Given the description of an element on the screen output the (x, y) to click on. 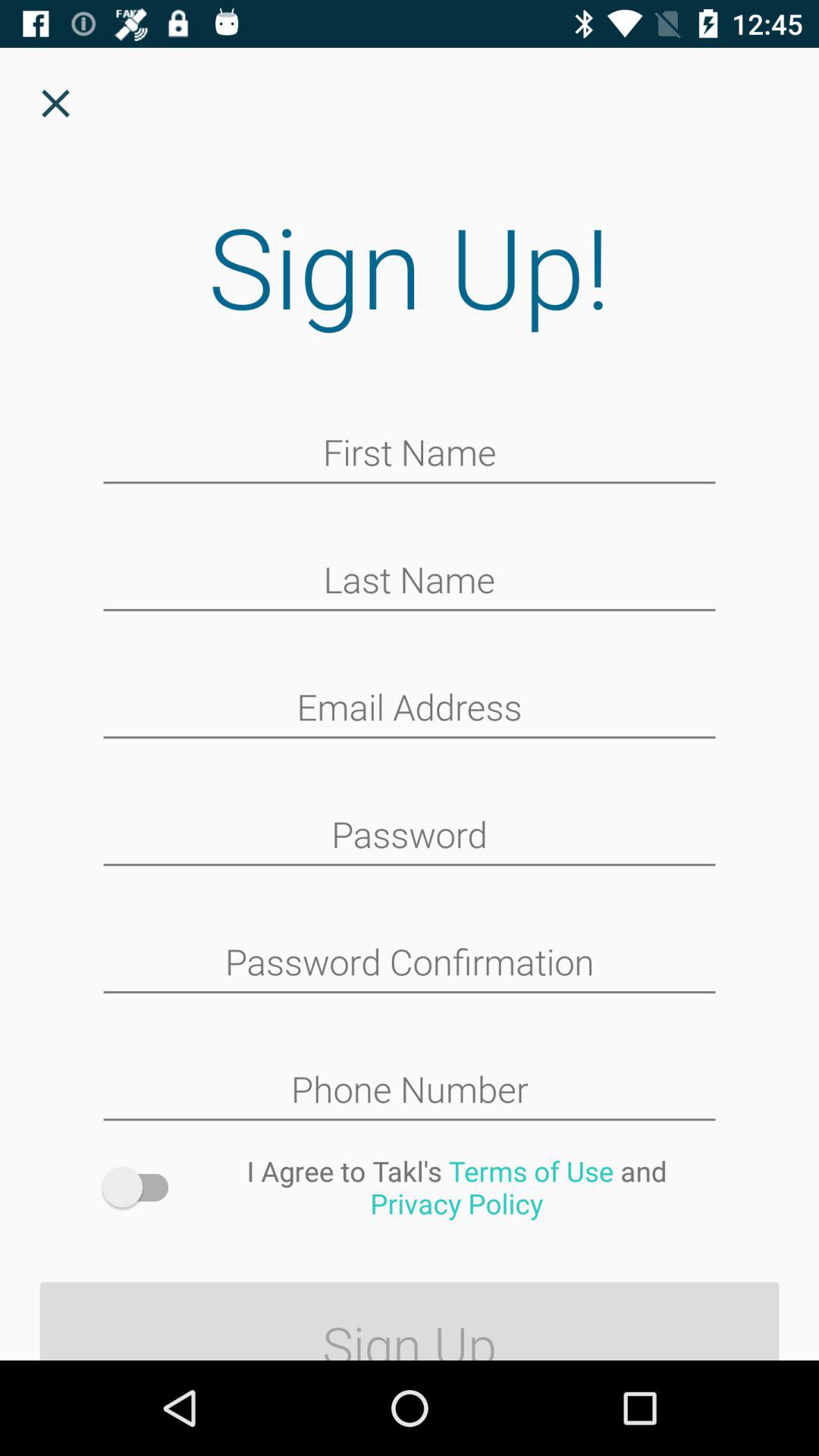
turn off the icon at the top left corner (55, 103)
